Given the description of an element on the screen output the (x, y) to click on. 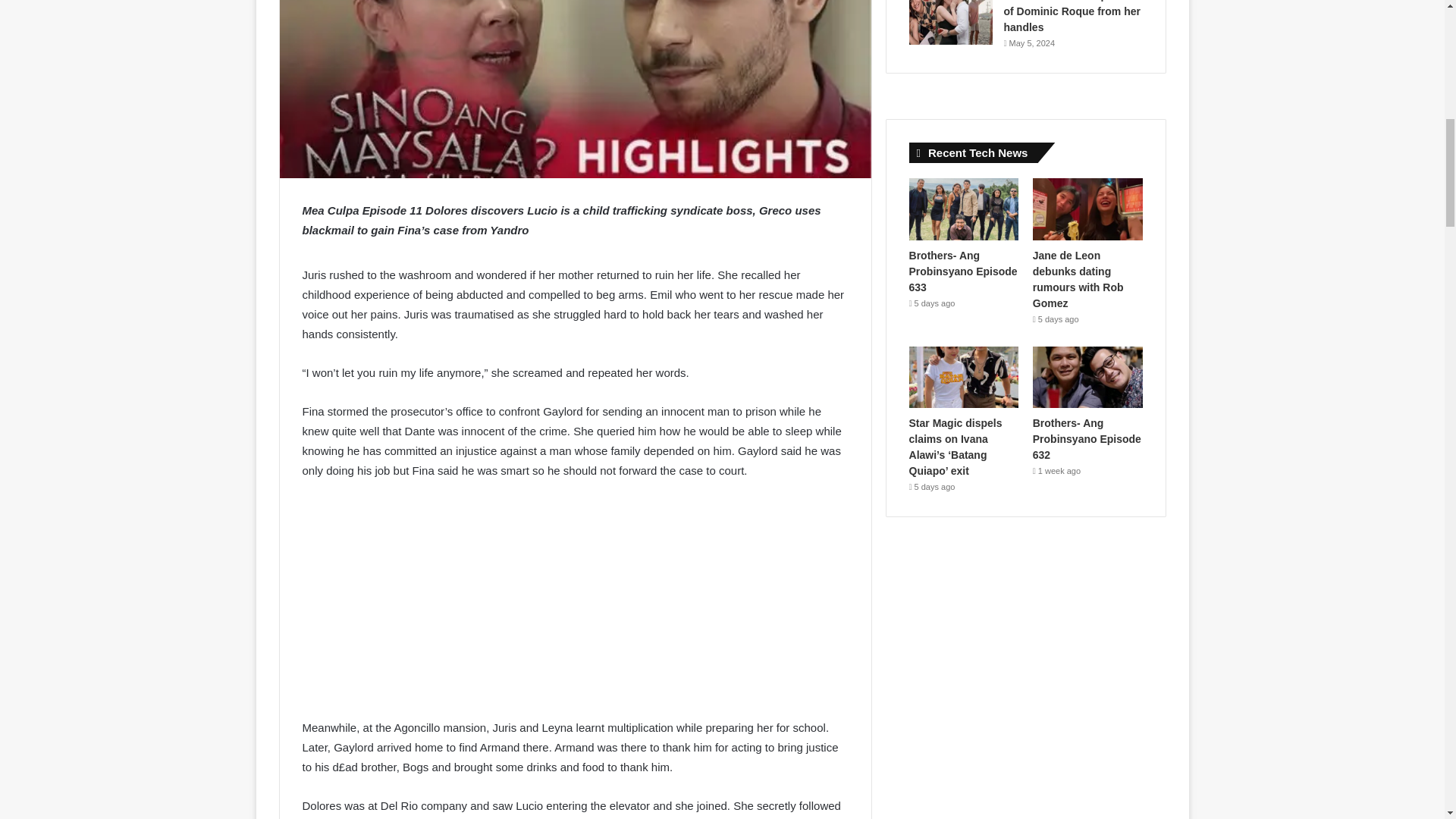
Advertisement (574, 605)
Mea Culpa Episode 11 (574, 89)
